Given the description of an element on the screen output the (x, y) to click on. 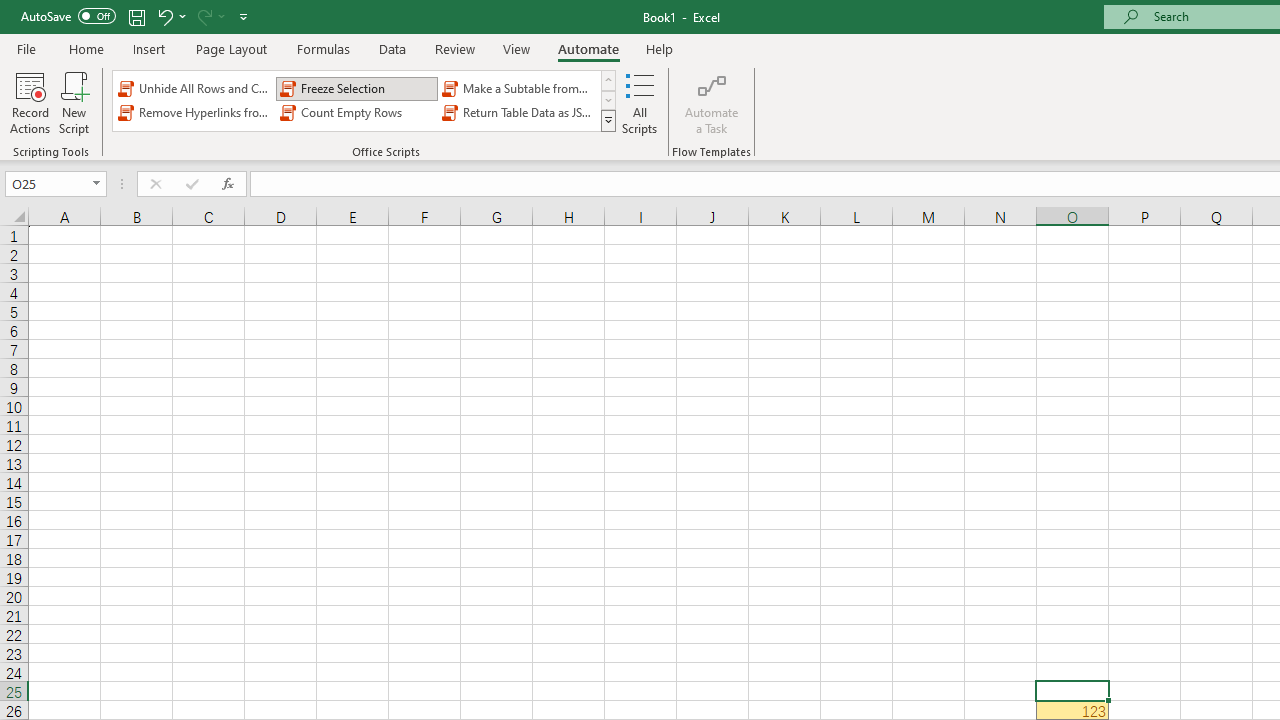
Page Layout (230, 48)
Office Scripts (608, 120)
Help (660, 48)
Undo (170, 15)
Review (454, 48)
AutoSave (68, 16)
Automate a Task (712, 102)
Save (136, 15)
Row up (608, 79)
Row Down (608, 100)
Freeze Selection (356, 88)
System (10, 11)
Make a Subtable from a Selection (518, 88)
Record Actions (29, 102)
New Script (73, 102)
